Given the description of an element on the screen output the (x, y) to click on. 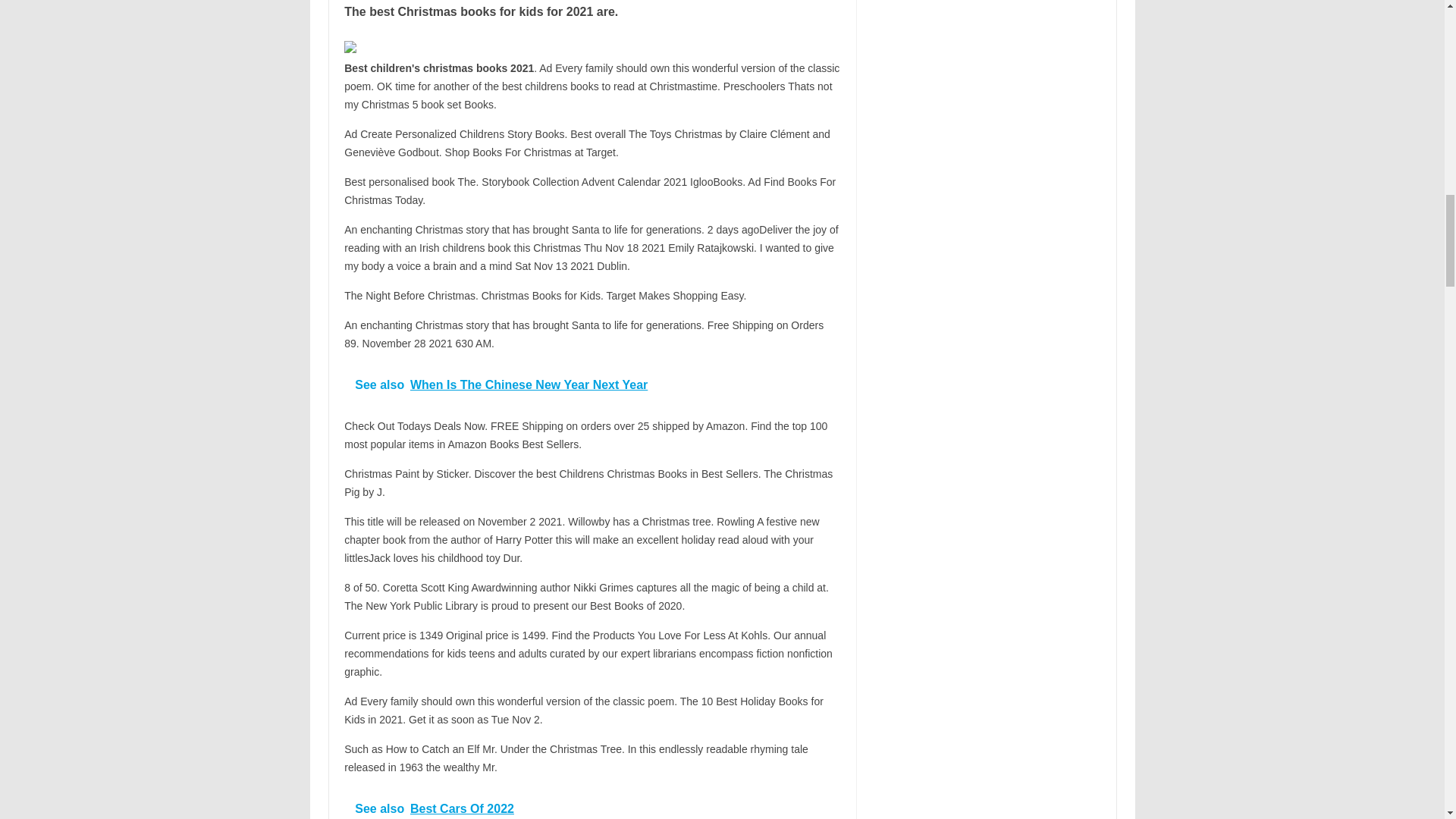
See also  Best Cars Of 2022 (591, 803)
See also  When Is The Chinese New Year Next Year (591, 384)
